Given the description of an element on the screen output the (x, y) to click on. 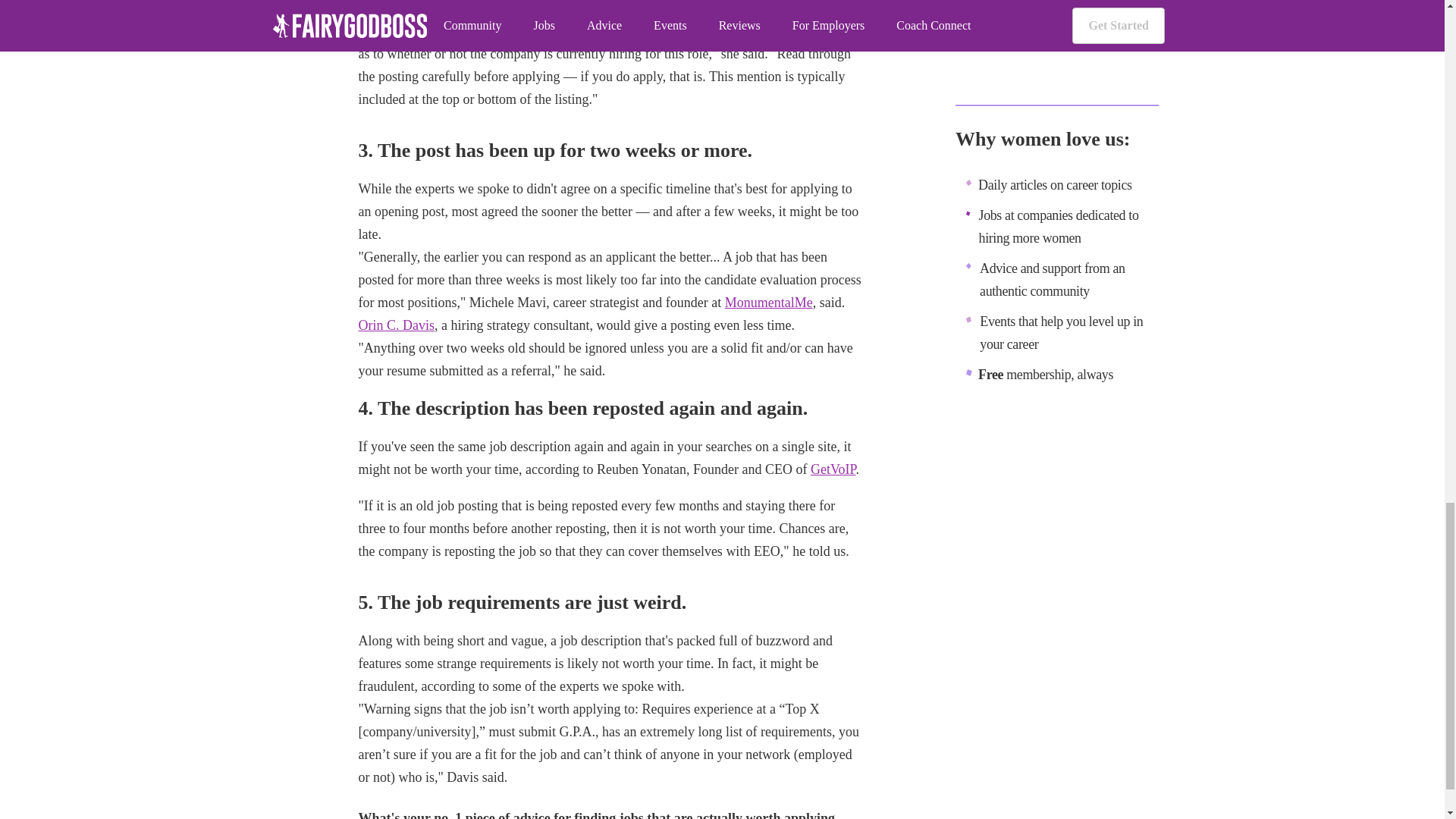
Orin C. Davis (395, 324)
GetVoIP (833, 468)
MonumentalMe (768, 302)
